Given the description of an element on the screen output the (x, y) to click on. 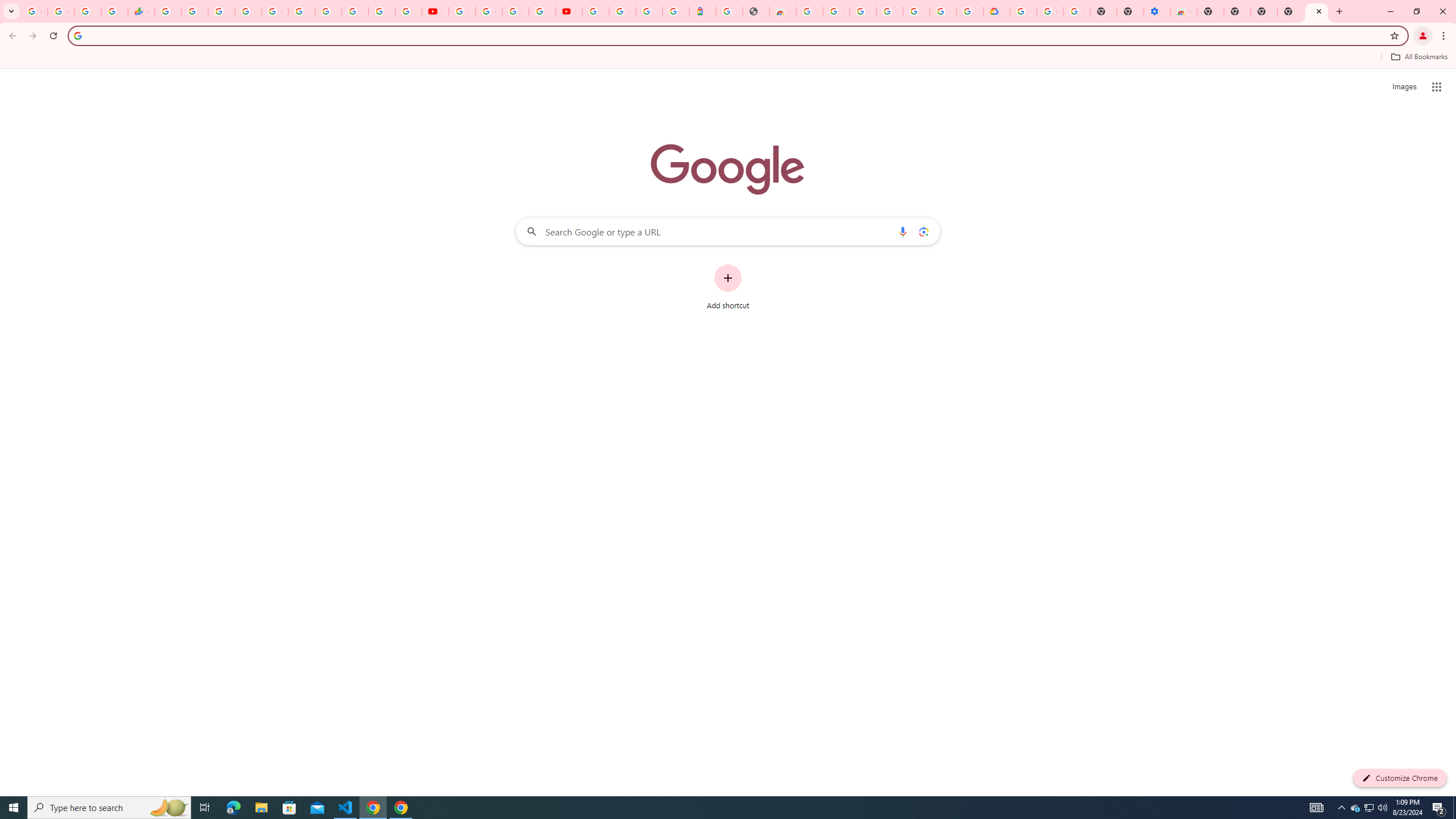
Sign in - Google Accounts (622, 11)
YouTube (462, 11)
